Given the description of an element on the screen output the (x, y) to click on. 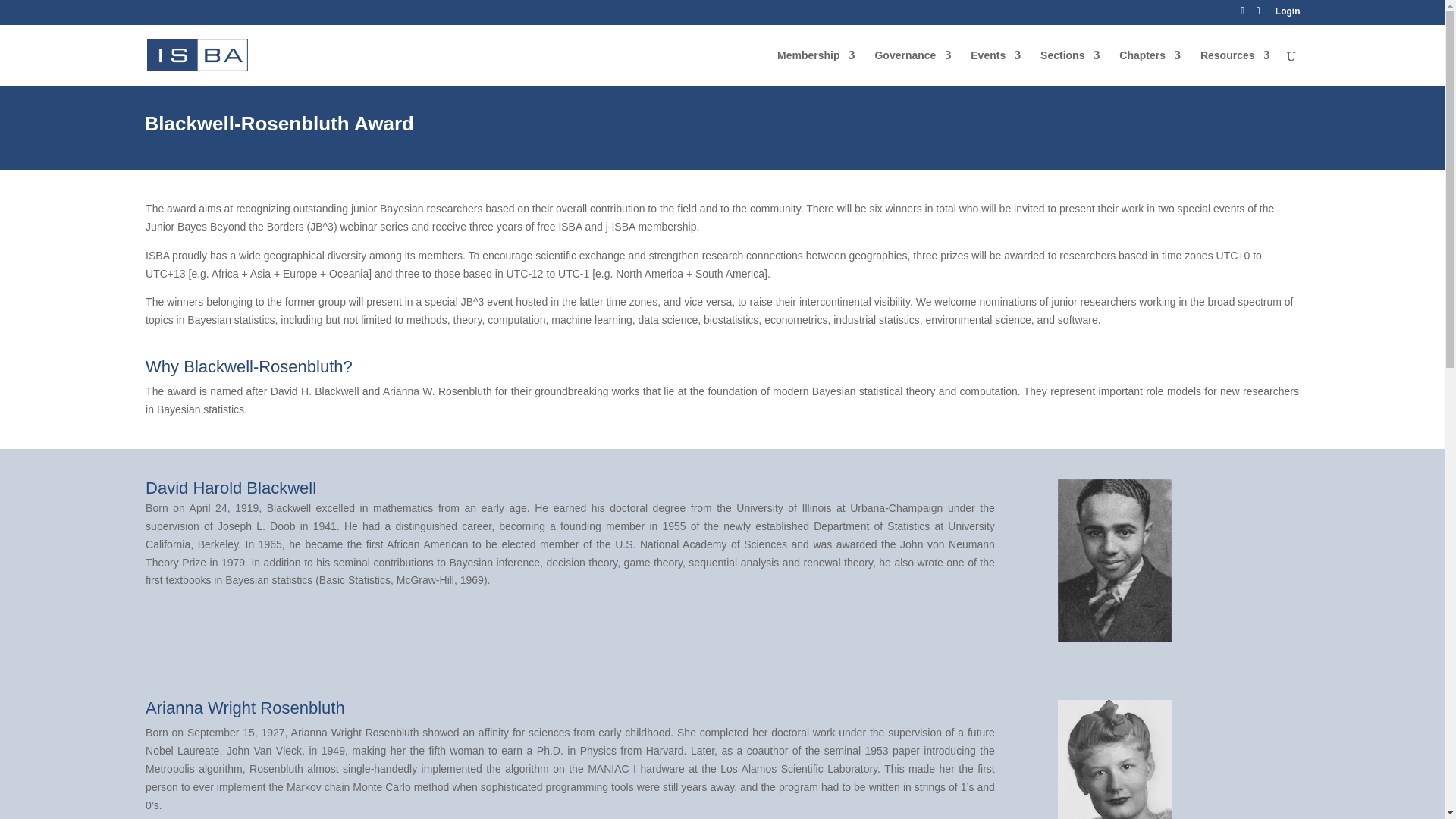
Governance (912, 67)
Sections (1070, 67)
Resources (1234, 67)
Login (1287, 14)
Chapters (1149, 67)
rosenbluth (1115, 759)
Membership (815, 67)
Events (995, 67)
